Given the description of an element on the screen output the (x, y) to click on. 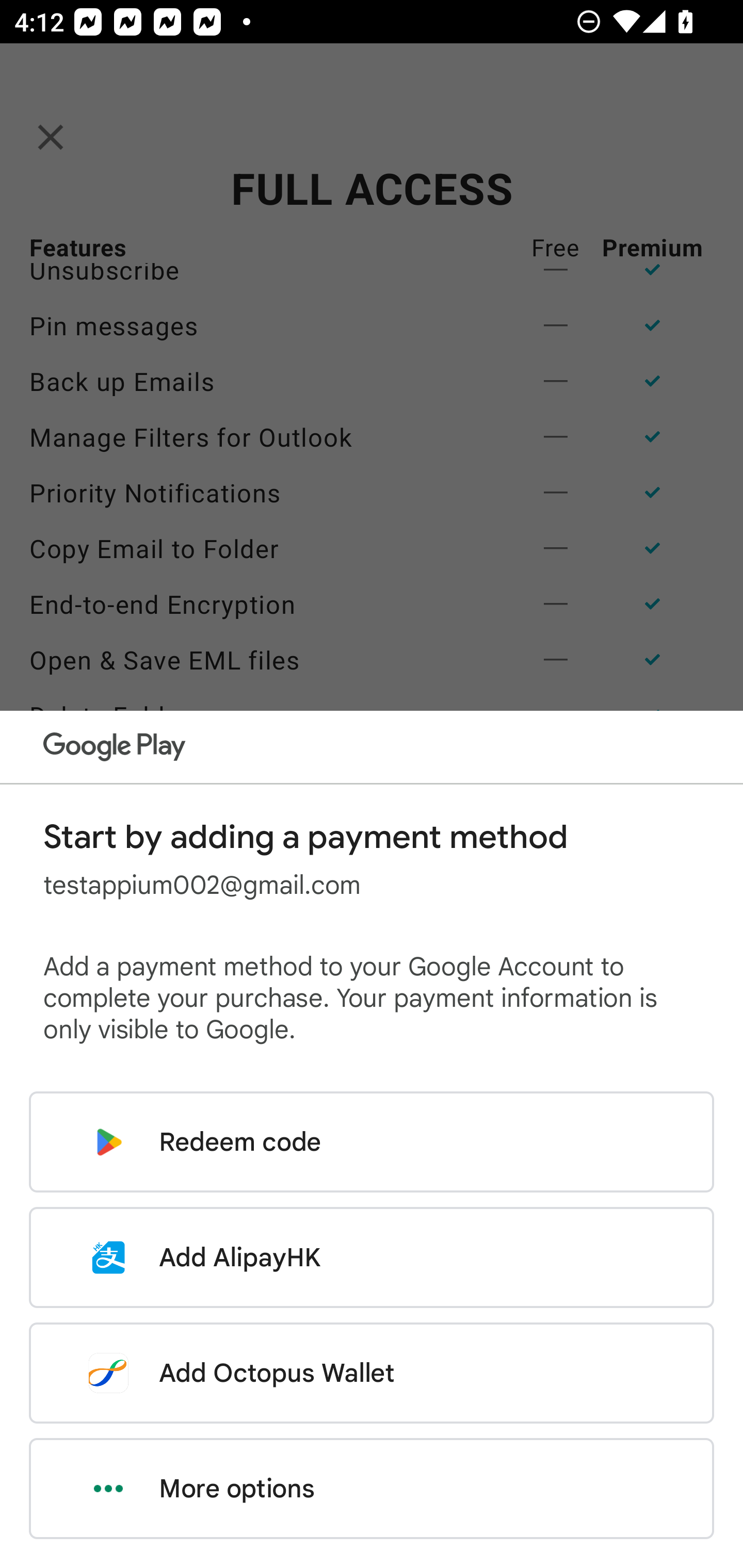
Redeem code (371, 1142)
Add AlipayHK (371, 1257)
Add Octopus Wallet (371, 1372)
More options (371, 1488)
